Given the description of an element on the screen output the (x, y) to click on. 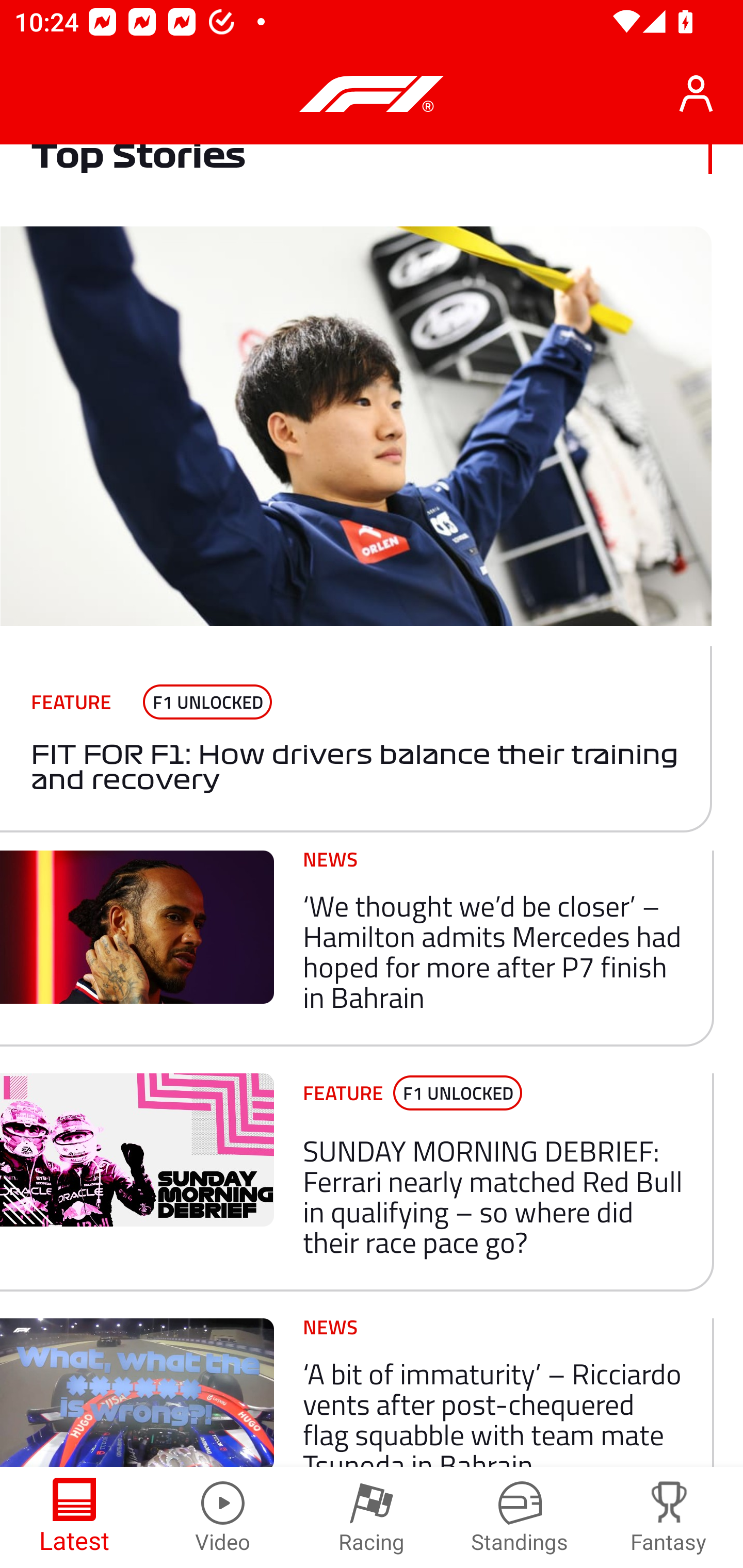
Video (222, 1517)
Racing (371, 1517)
Standings (519, 1517)
Fantasy (668, 1517)
